Given the description of an element on the screen output the (x, y) to click on. 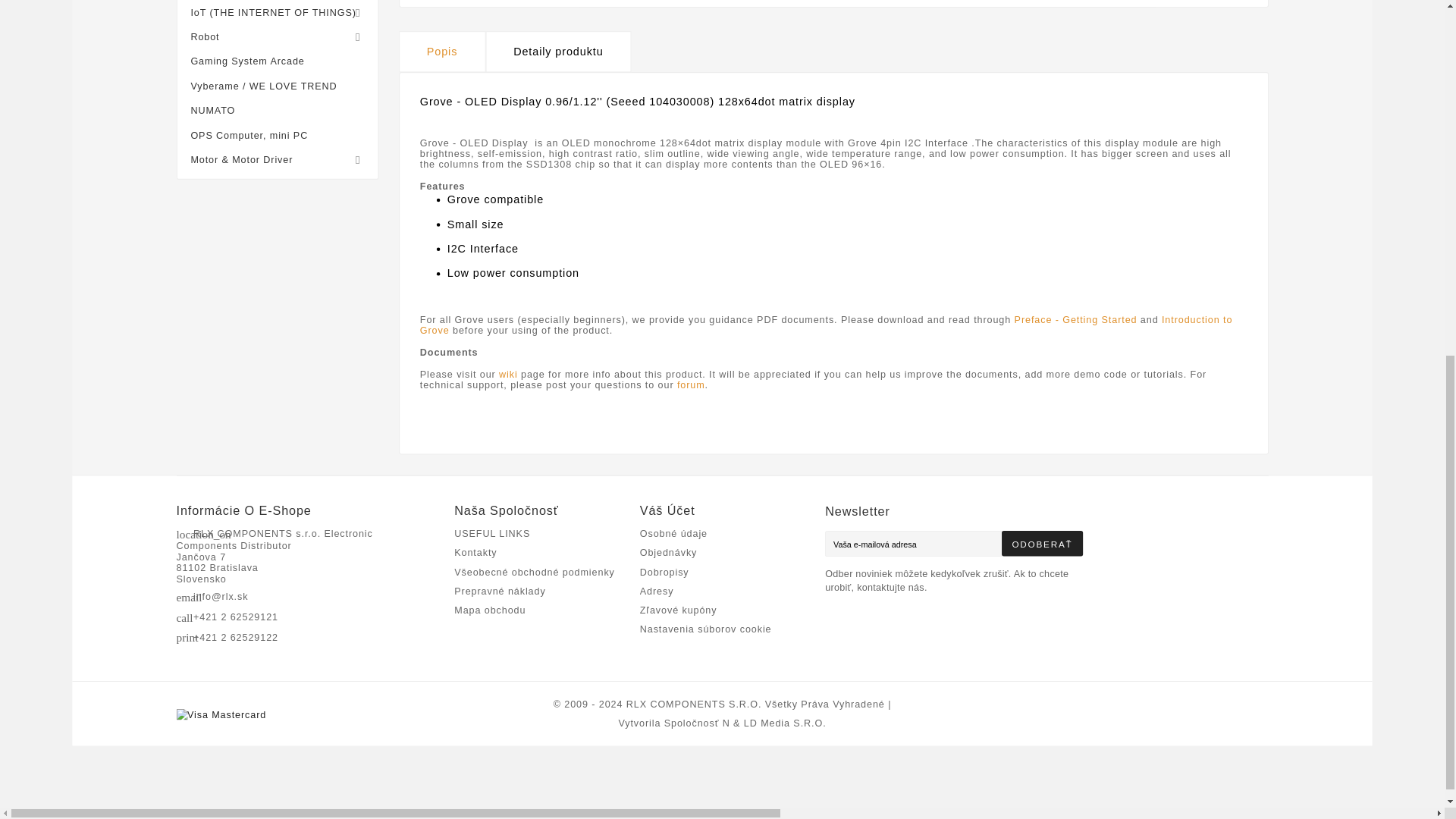
USEFUL LINKS (496, 534)
Kontakty (477, 553)
